Given the description of an element on the screen output the (x, y) to click on. 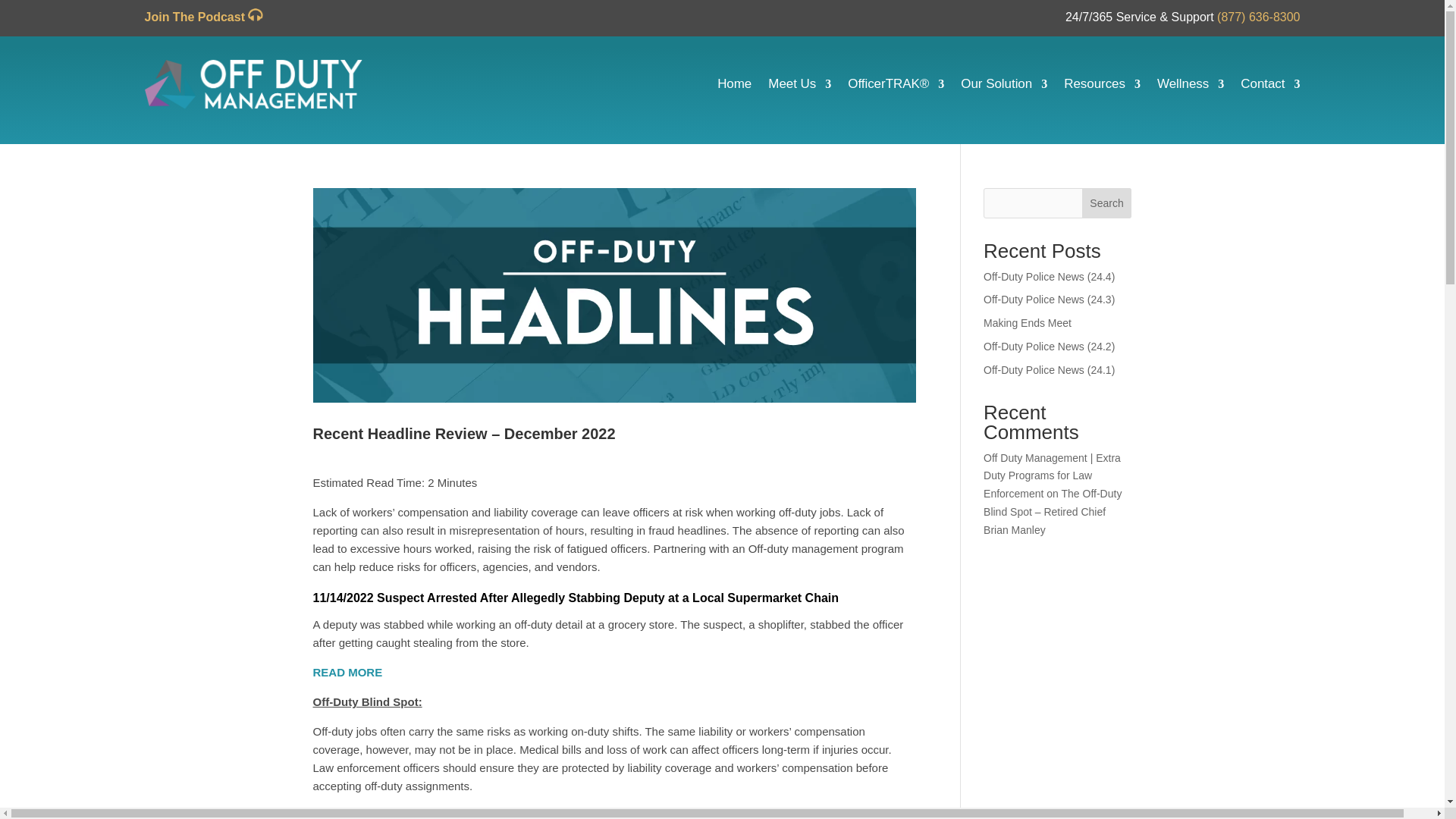
Wellness (1190, 84)
Meet Us (799, 84)
Contact (1270, 84)
Off-Duty Headlines - Dec'22 (614, 295)
Resources (1102, 84)
Our Solution (1003, 84)
Join The Podcast (203, 16)
